Given the description of an element on the screen output the (x, y) to click on. 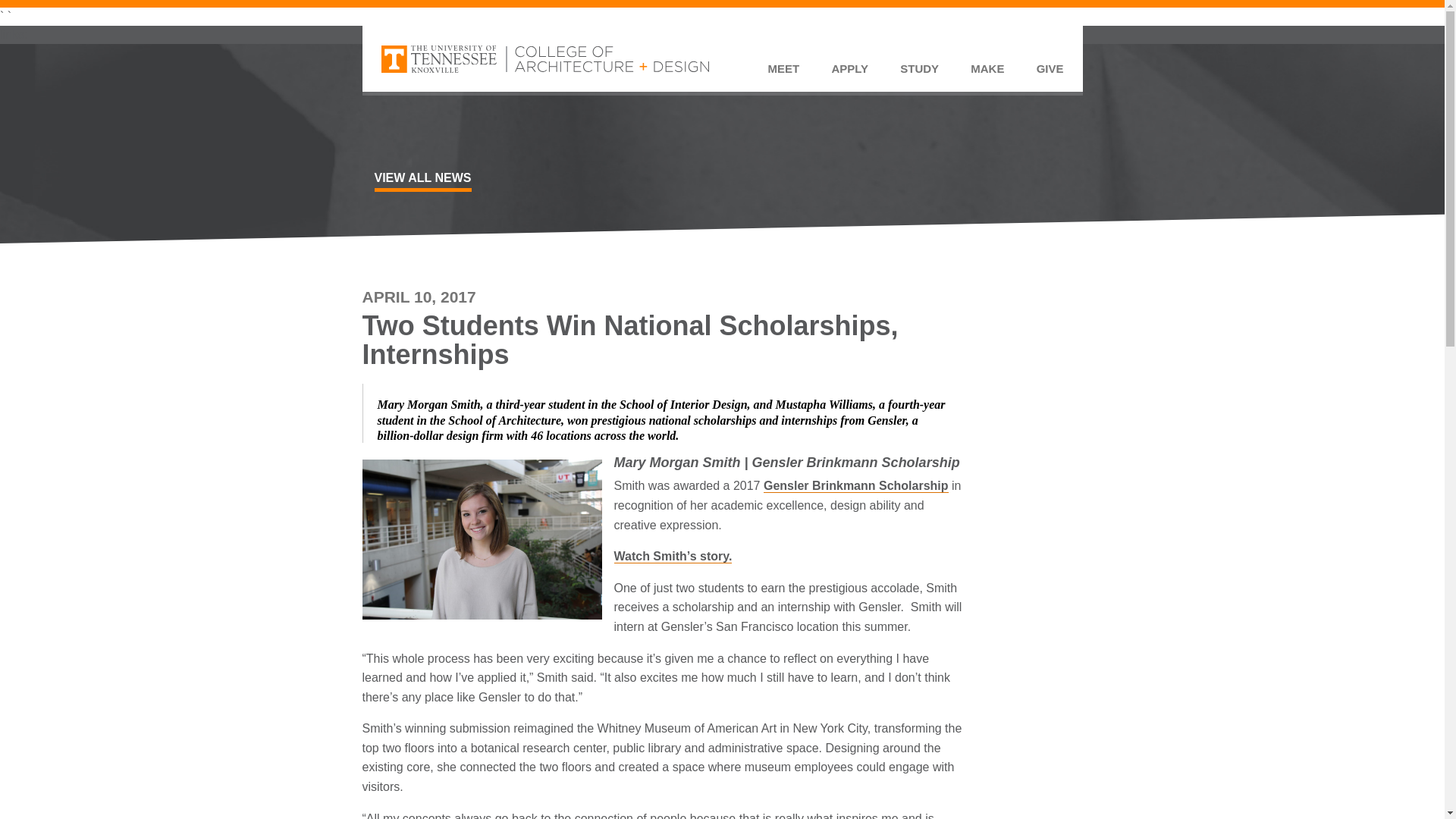
APPLY (849, 74)
Search (781, 50)
MAKE (987, 74)
STUDY (919, 74)
Gensler Brinkmann Scholarship (855, 485)
VIEW ALL NEWS (422, 181)
MEET (783, 74)
